Given the description of an element on the screen output the (x, y) to click on. 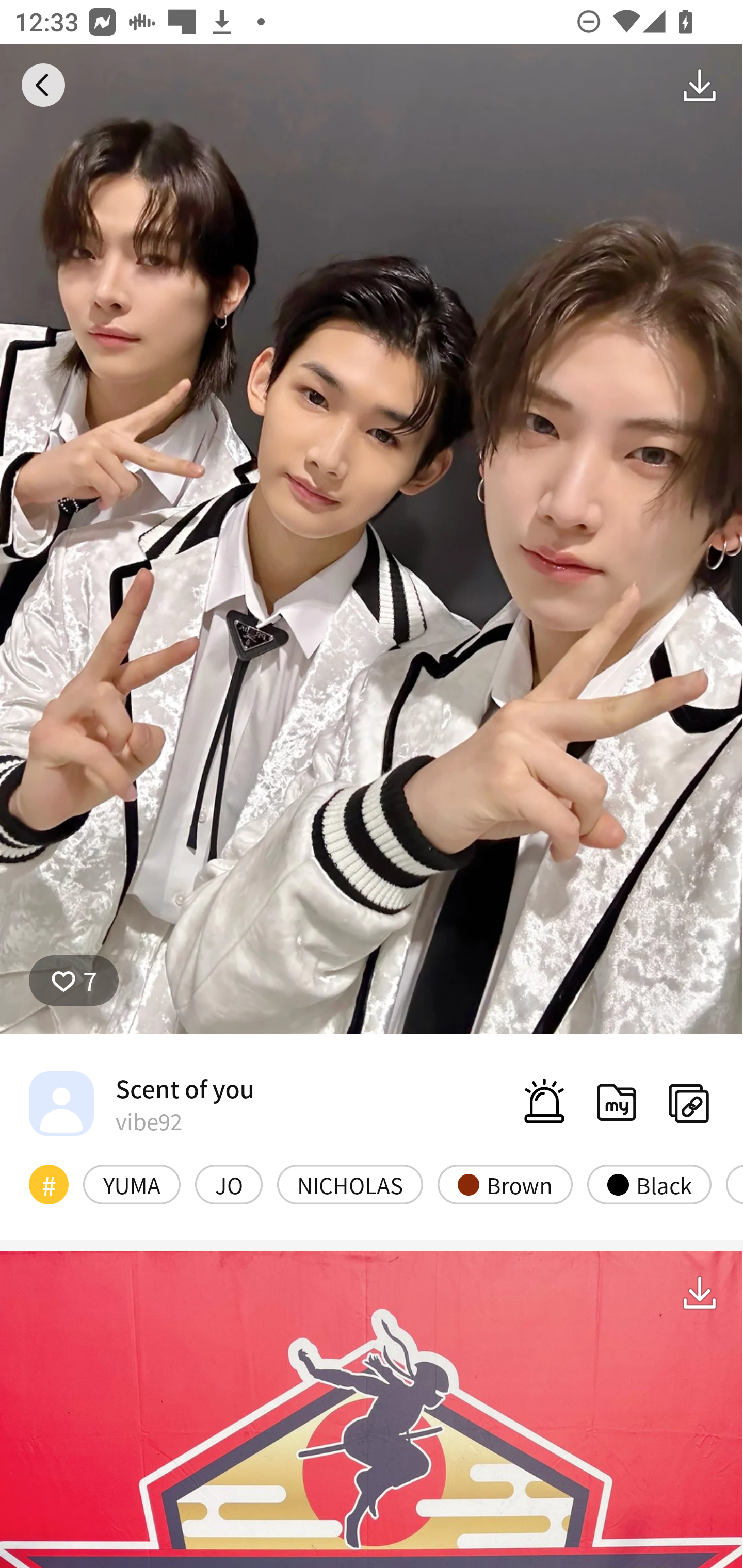
7 (73, 980)
Scent of you vibe92 (141, 1102)
YUMA (131, 1184)
JO (228, 1184)
NICHOLAS (349, 1184)
Brown (504, 1184)
Black (648, 1184)
